Given the description of an element on the screen output the (x, y) to click on. 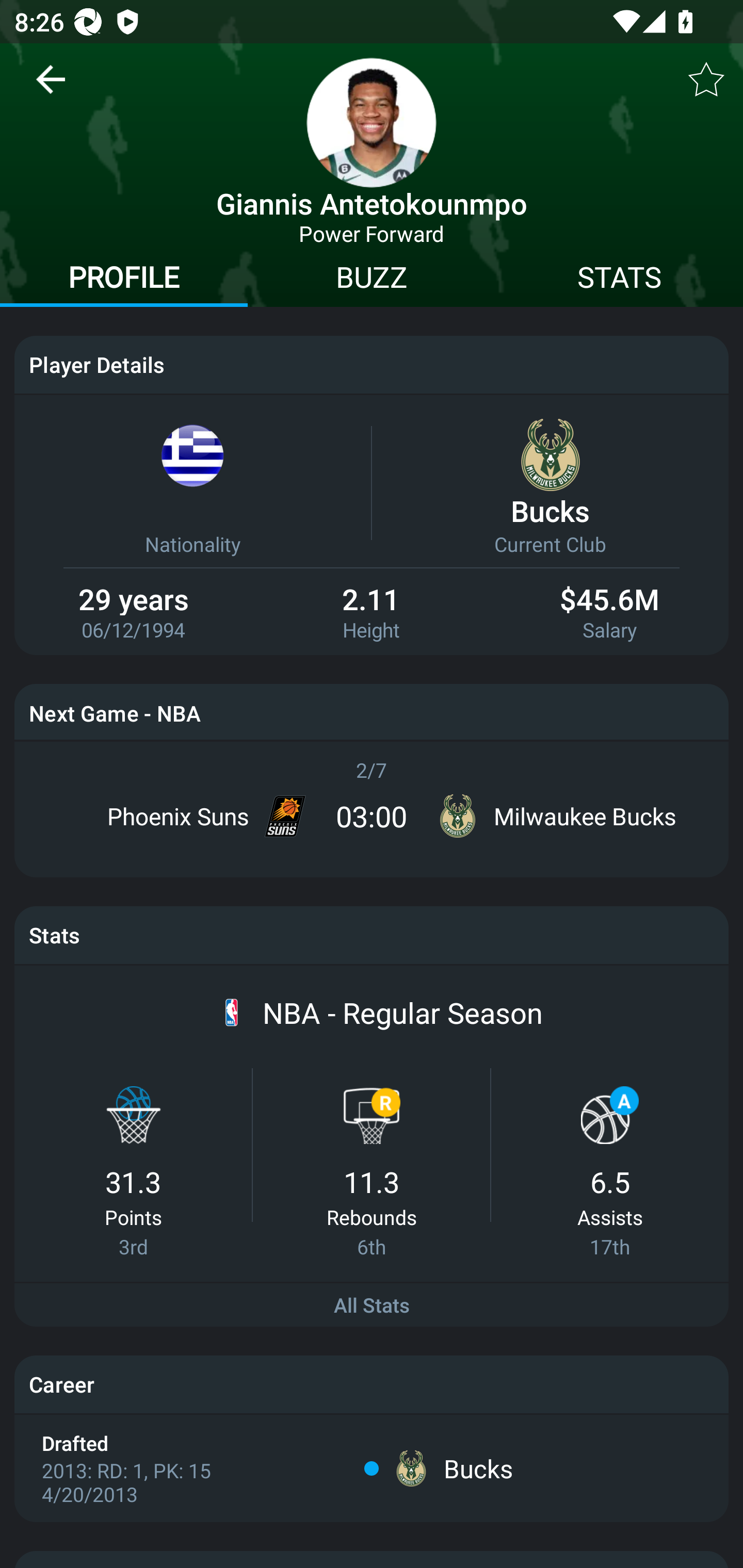
Navigate up (50, 86)
PROFILE (123, 279)
BUZZ (371, 279)
STATS (619, 279)
Player Details (371, 364)
2/7 Phoenix Suns 03:00 Milwaukee Bucks (371, 801)
Stats (371, 935)
NBA - Regular Season (402, 1011)
All Stats (371, 1304)
Career (371, 1383)
Bucks (477, 1467)
